Given the description of an element on the screen output the (x, y) to click on. 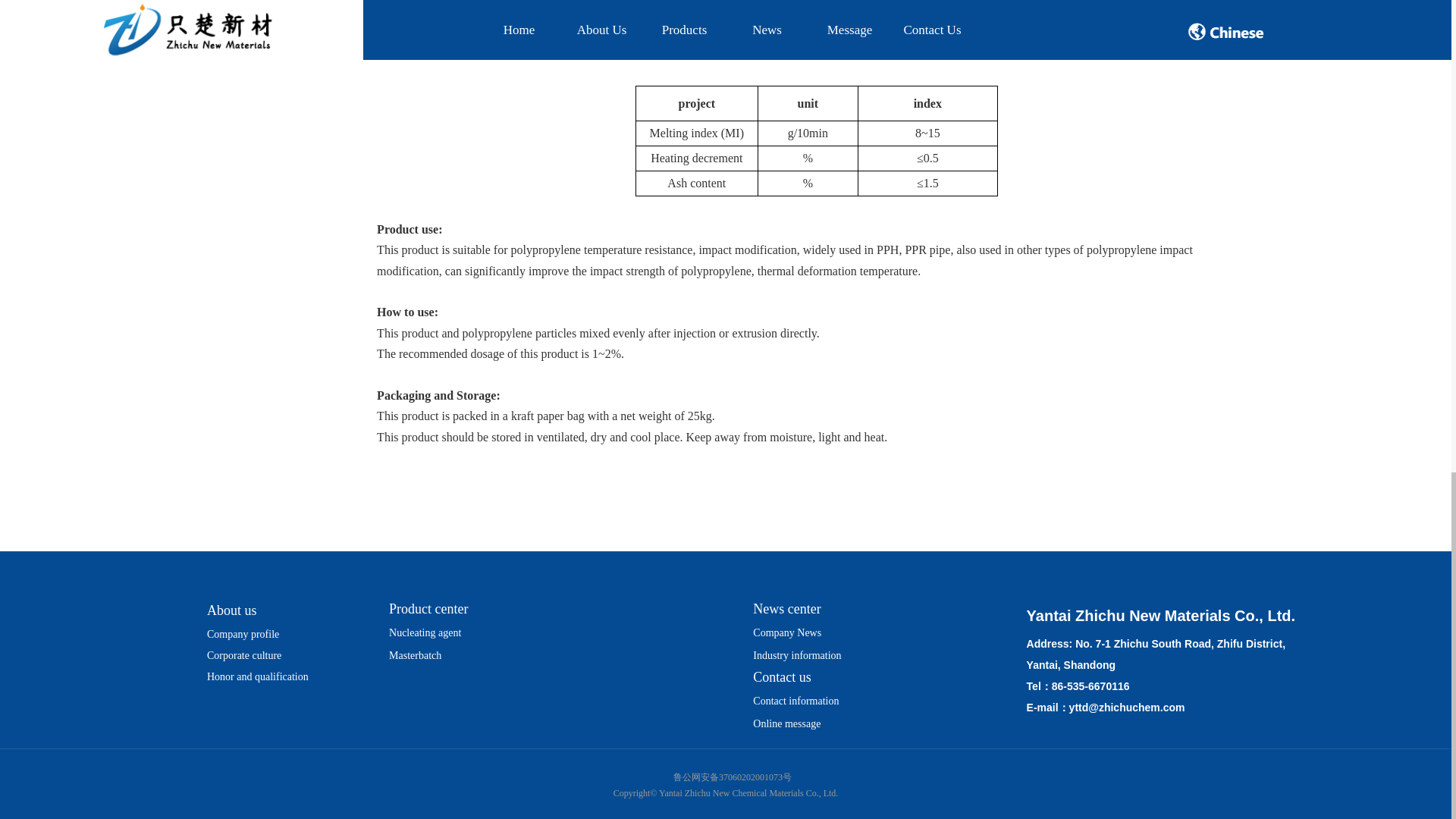
86-535-6670116 (1090, 686)
Company News (786, 632)
Nucleating agent (424, 632)
Contact information (795, 700)
Online message (786, 723)
Industry information (796, 655)
Masterbatch (414, 655)
